Given the description of an element on the screen output the (x, y) to click on. 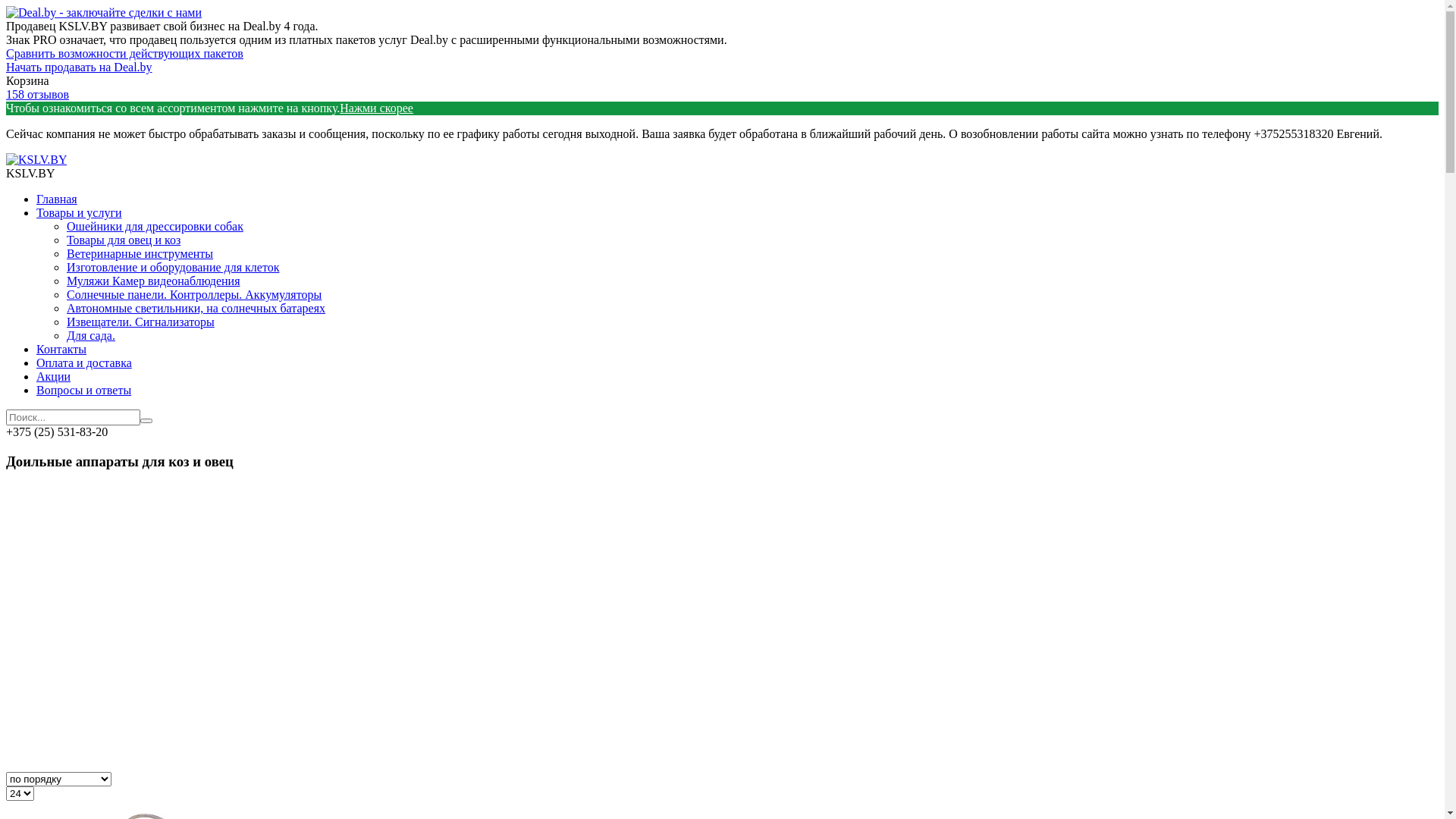
KSLV.BY Element type: hover (36, 159)
